Given the description of an element on the screen output the (x, y) to click on. 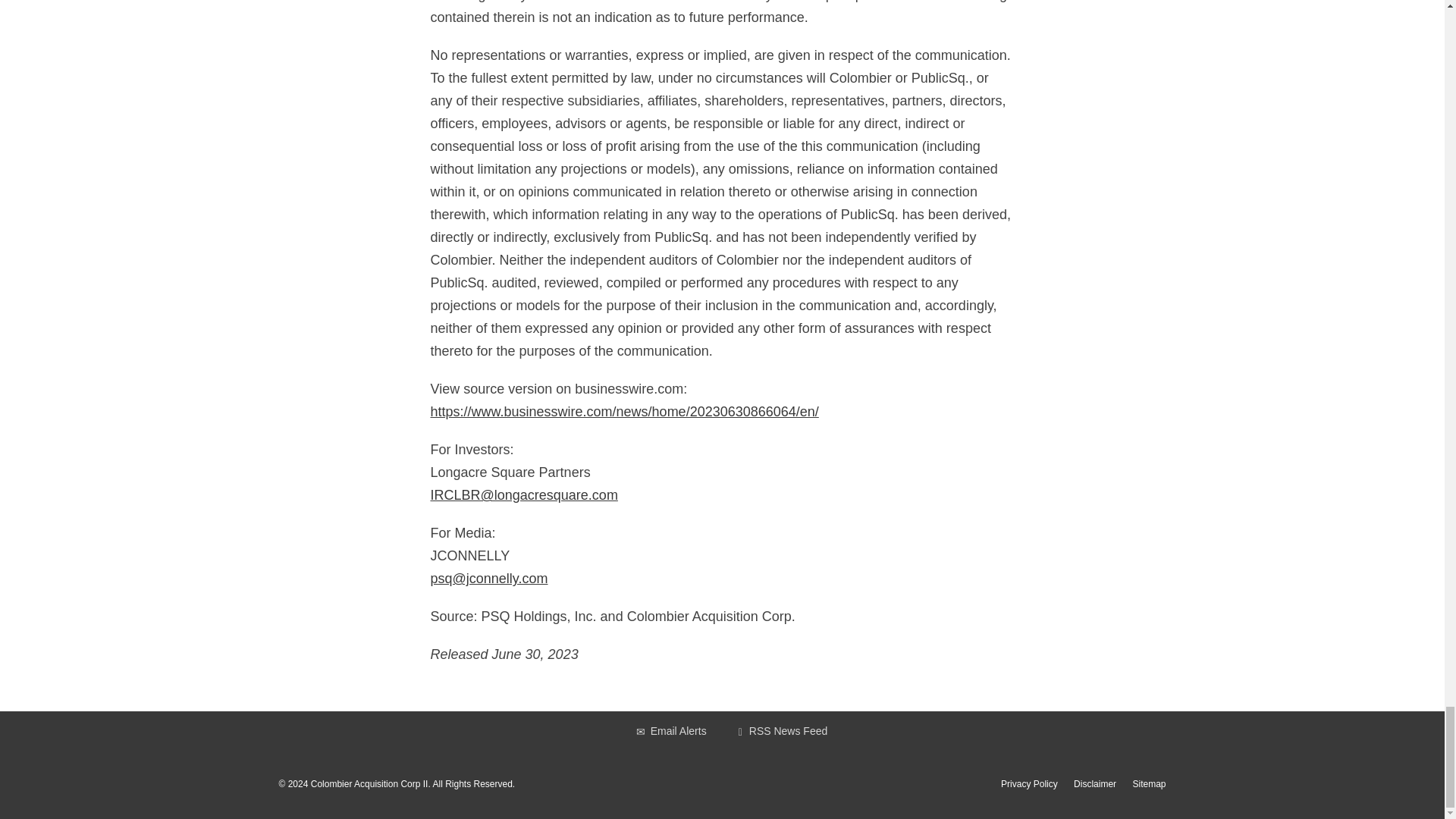
Colombier Acquisition Corp II (369, 783)
Disclaimer (1095, 783)
RSS News Feed (782, 730)
Email Alerts (668, 730)
Privacy Policy (1029, 783)
Sitemap (1149, 783)
